Given the description of an element on the screen output the (x, y) to click on. 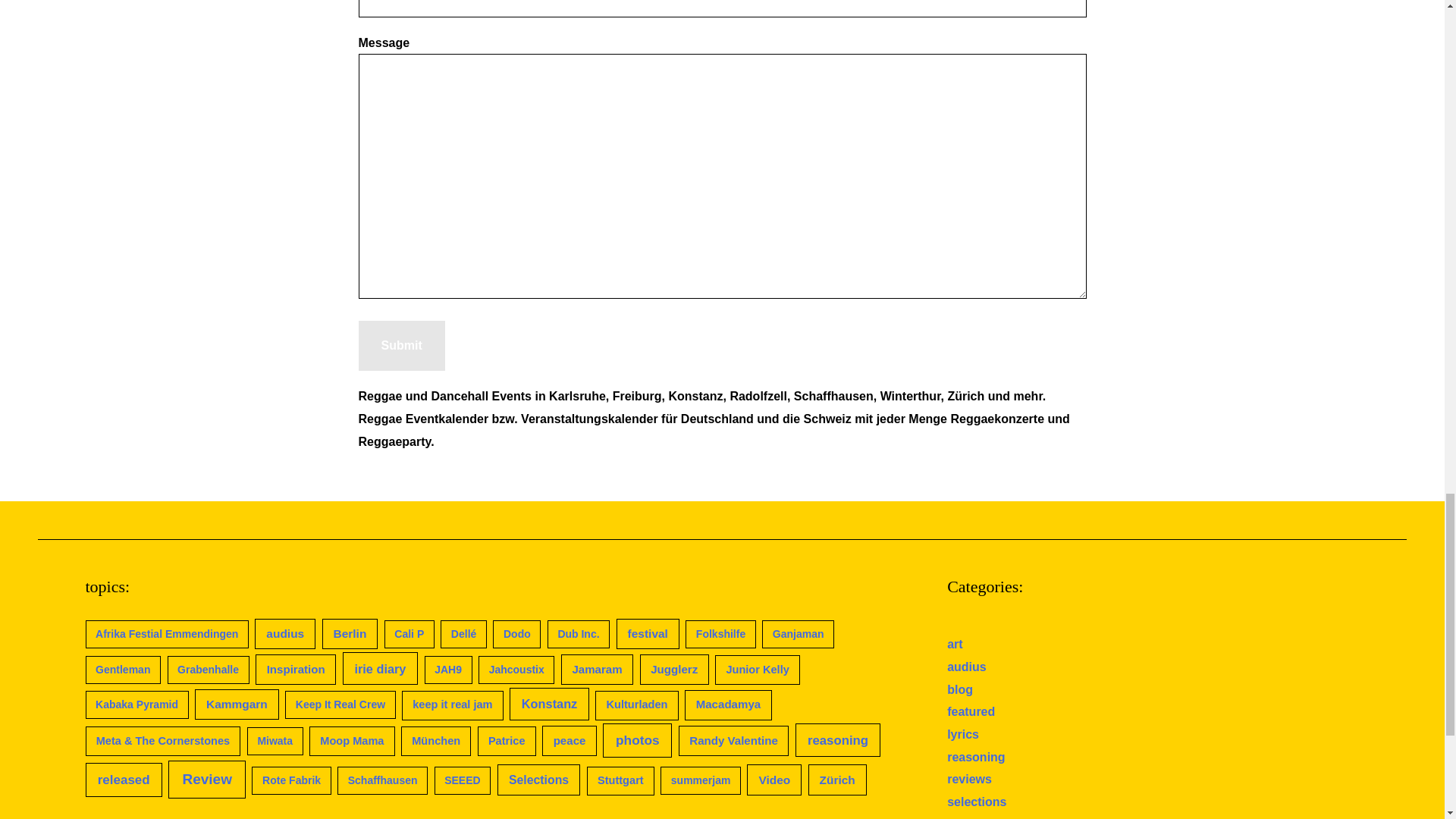
Dub Inc. (578, 633)
irie diary (379, 667)
Submit (401, 346)
Submit (401, 346)
audius (284, 634)
Ganjaman (797, 633)
JAH9 (448, 669)
Jahcoustix (516, 669)
Berlin (349, 634)
Folkshilfe (720, 633)
Gentleman (122, 669)
Jamaram (596, 669)
Afrika Festial Emmendingen (165, 633)
Dodo (516, 633)
Cali P (408, 633)
